Given the description of an element on the screen output the (x, y) to click on. 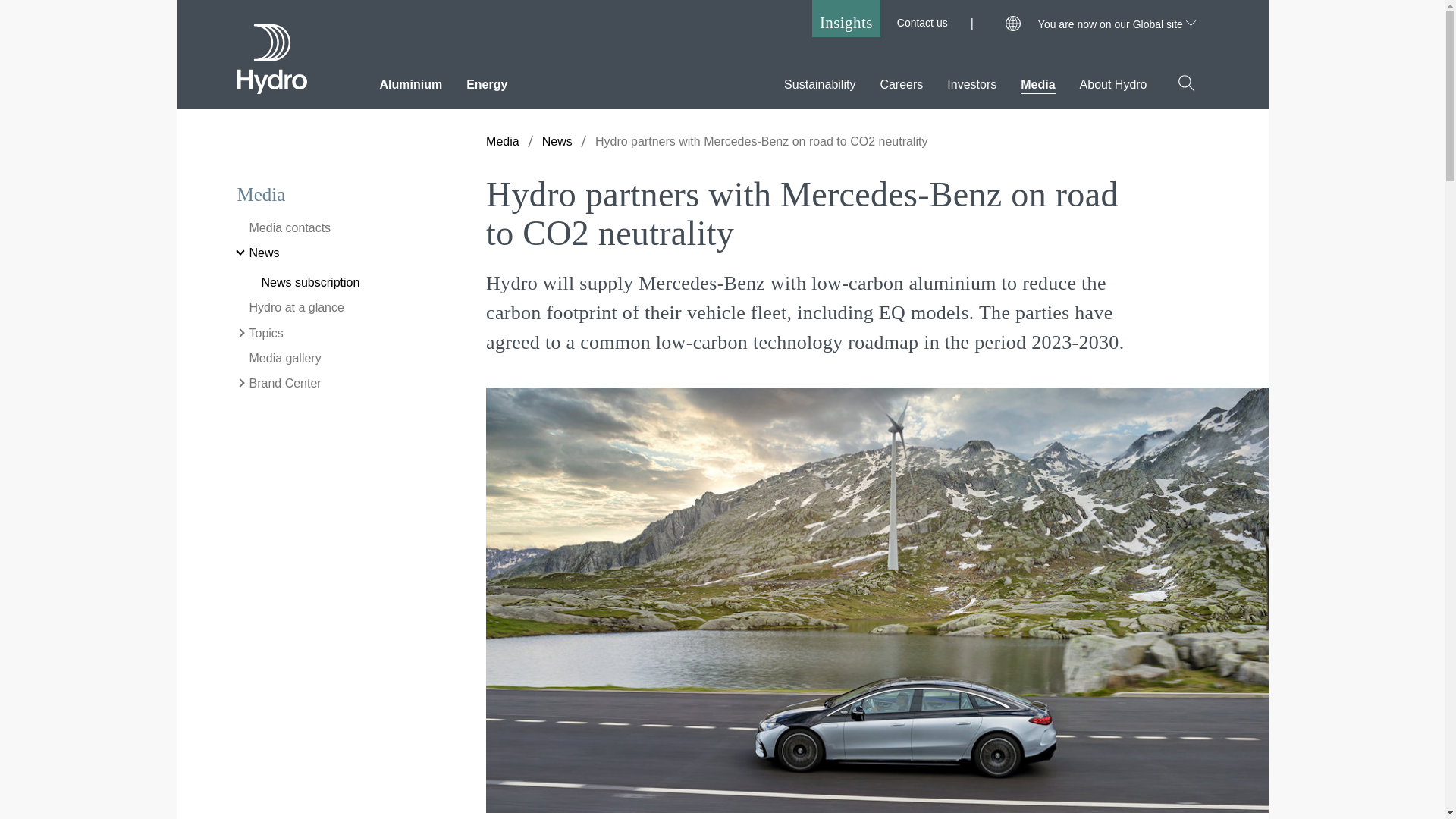
Media (502, 141)
News (556, 141)
Investors (971, 80)
Aluminium (410, 80)
Careers (901, 80)
Investors (971, 80)
Insights (846, 18)
Aluminium (410, 80)
Energy (485, 80)
Sustainability (820, 80)
You are now on our Global site (1116, 23)
Hydro at a glance (289, 307)
Media (1037, 80)
Brand Center (277, 383)
